Given the description of an element on the screen output the (x, y) to click on. 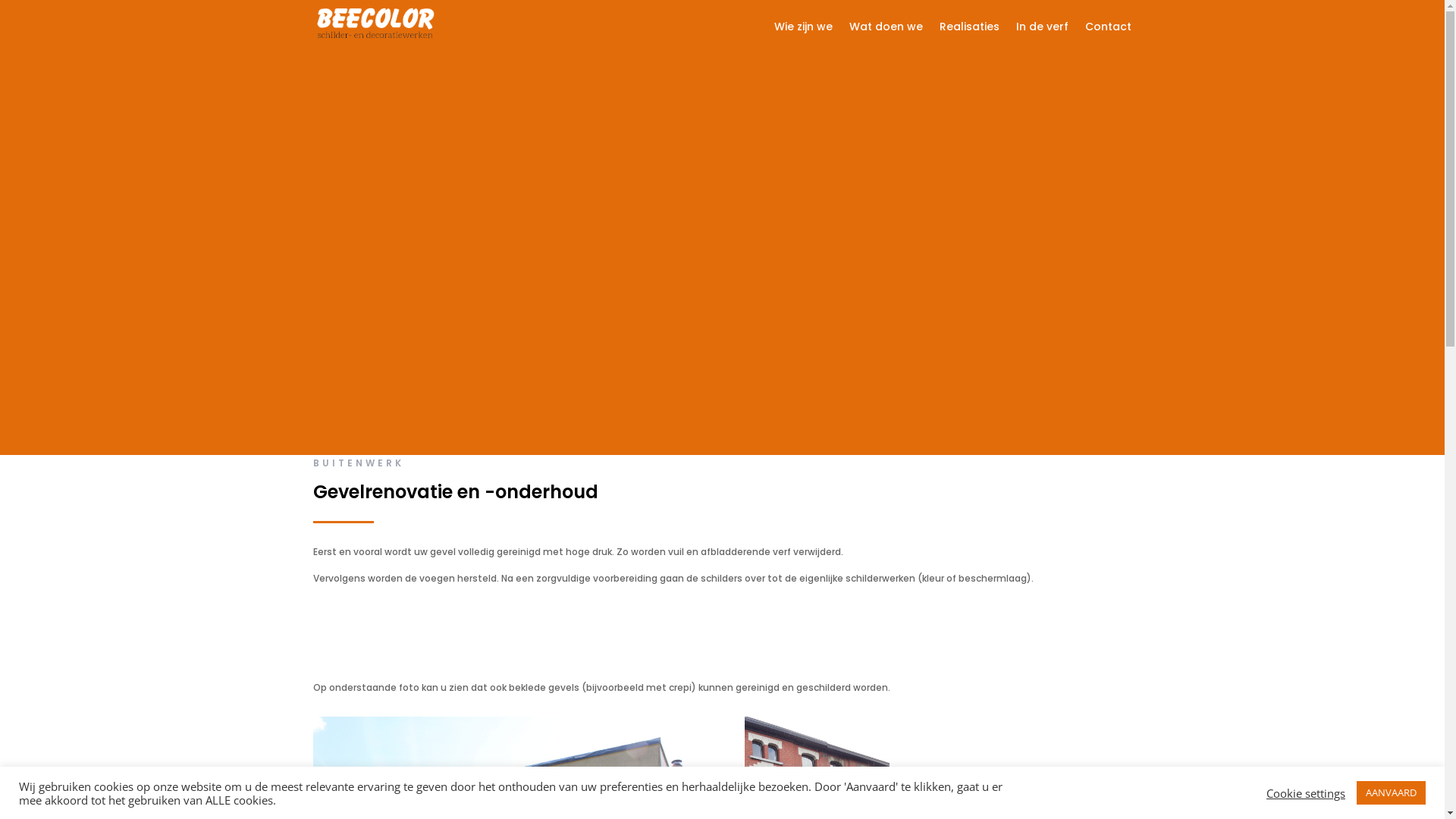
Cookie settings Element type: text (1305, 792)
AANVAARD Element type: text (1390, 792)
Wat doen we Element type: text (885, 29)
Wie zijn we Element type: text (803, 29)
In de verf Element type: text (1042, 29)
Realisaties Element type: text (969, 29)
mettekst Element type: hover (374, 22)
Contact Element type: text (1108, 29)
